Given the description of an element on the screen output the (x, y) to click on. 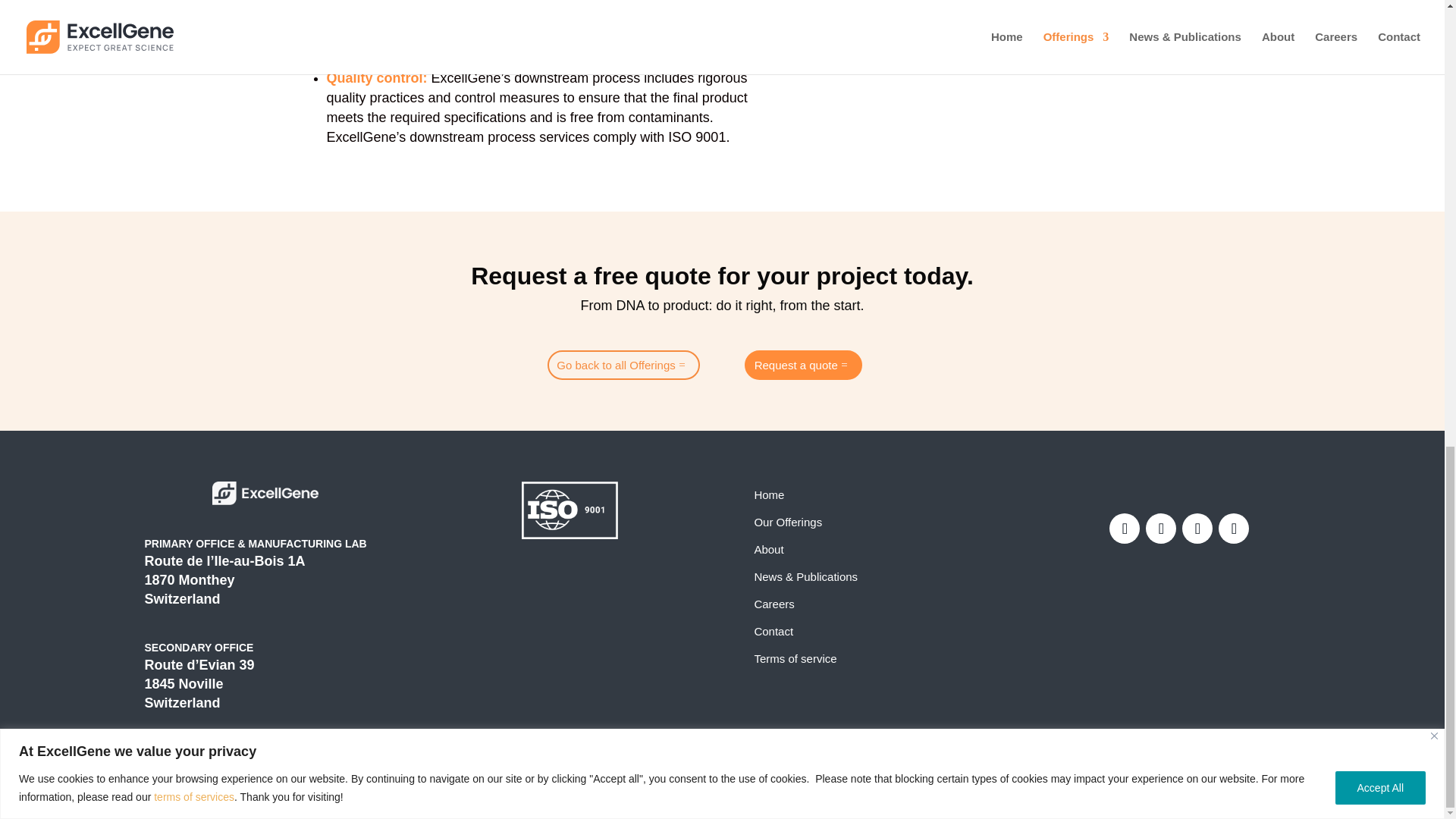
Follow on LinkedIn (1197, 528)
Follow on X (1160, 528)
Follow on Instagram (1233, 528)
iso9001 (569, 510)
Follow on Facebook (1124, 528)
